Given the description of an element on the screen output the (x, y) to click on. 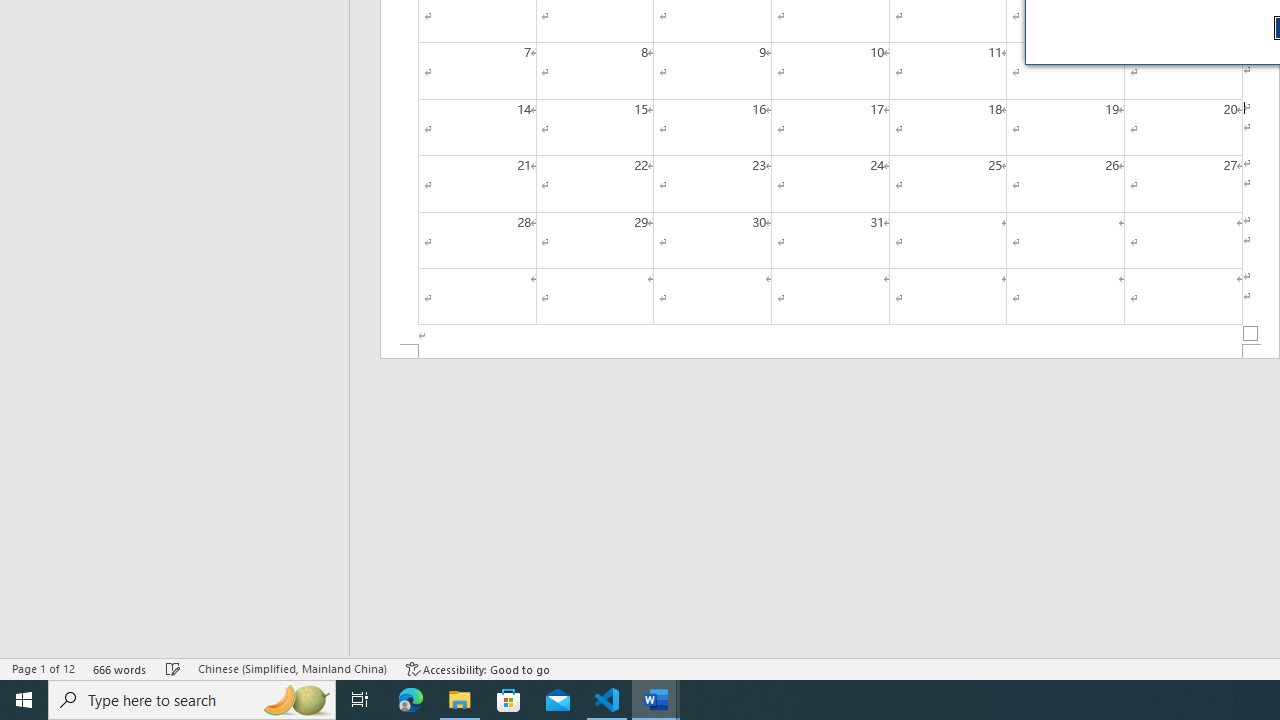
Accessibility Checker Accessibility: Good to go (478, 668)
Microsoft Edge (411, 699)
Search highlights icon opens search home window (295, 699)
Microsoft Store (509, 699)
Type here to search (191, 699)
File Explorer - 1 running window (460, 699)
Word Count 666 words (119, 668)
Start (24, 699)
Language Chinese (Simplified, Mainland China) (292, 668)
Page Number Page 1 of 12 (43, 668)
Task View (359, 699)
Footer -Section 1- (830, 351)
Word - 2 running windows (656, 699)
Visual Studio Code - 1 running window (607, 699)
Spelling and Grammar Check Checking (173, 668)
